Given the description of an element on the screen output the (x, y) to click on. 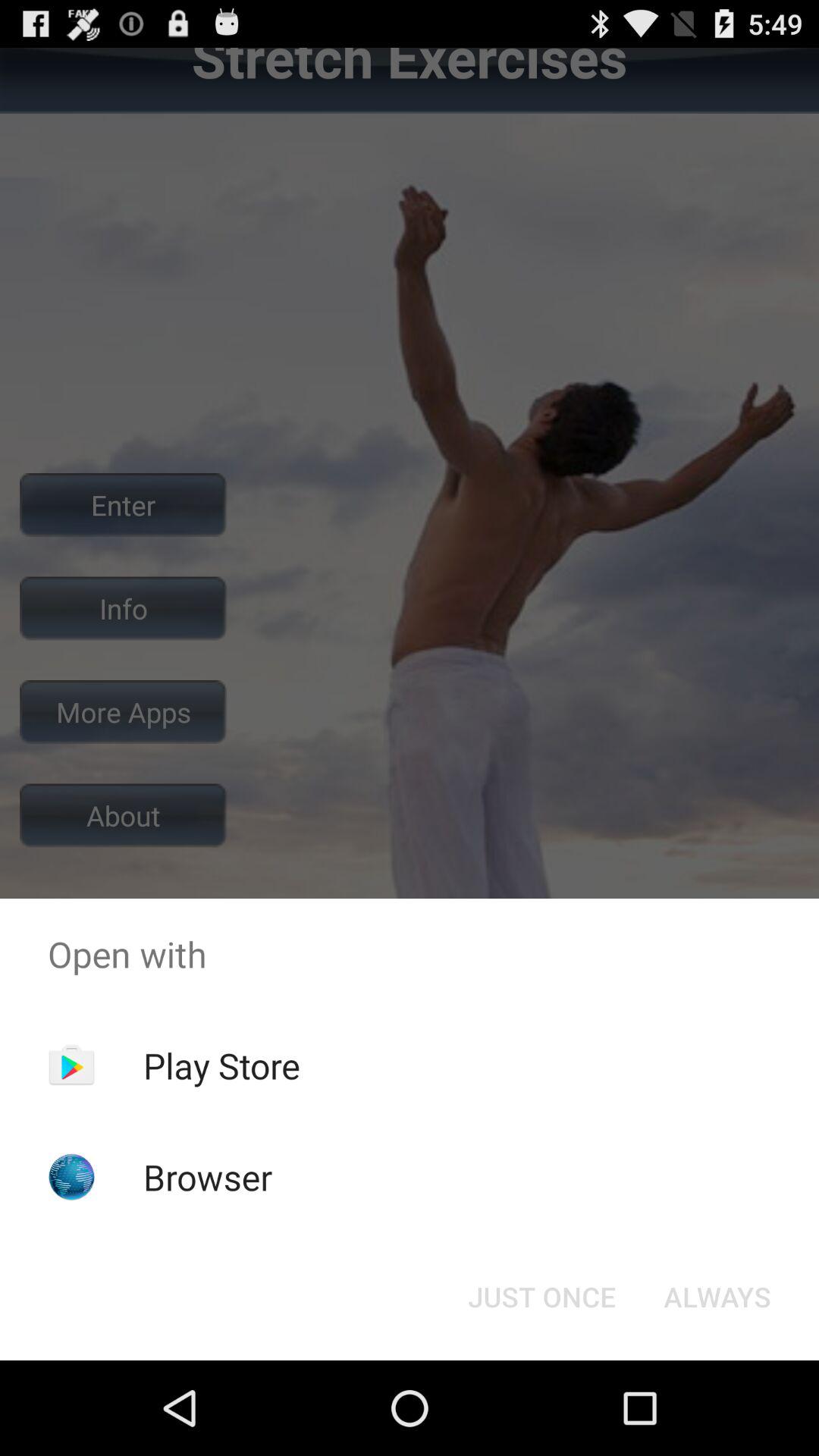
turn on item at the bottom right corner (717, 1296)
